Given the description of an element on the screen output the (x, y) to click on. 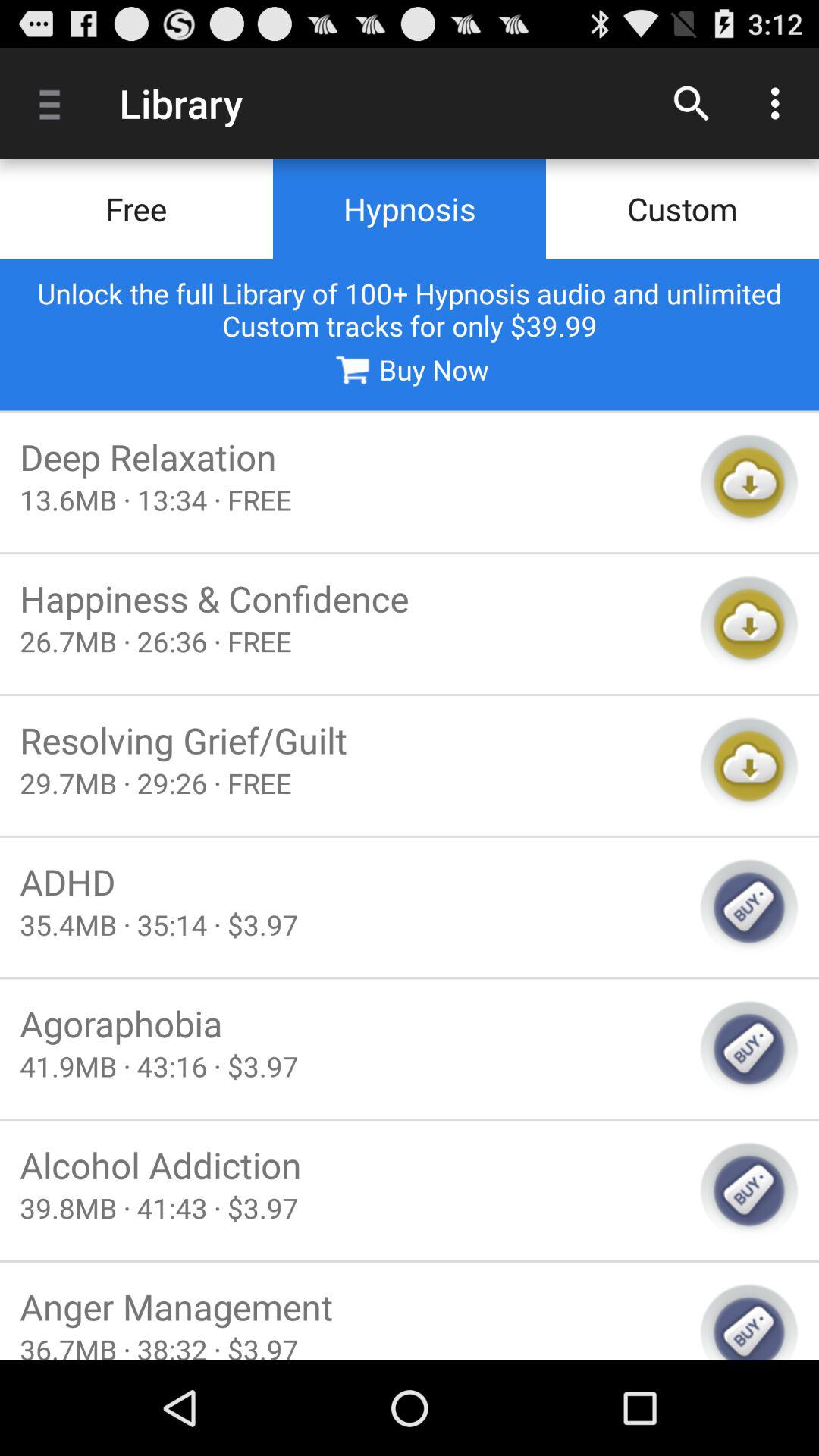
buy (749, 1048)
